Given the description of an element on the screen output the (x, y) to click on. 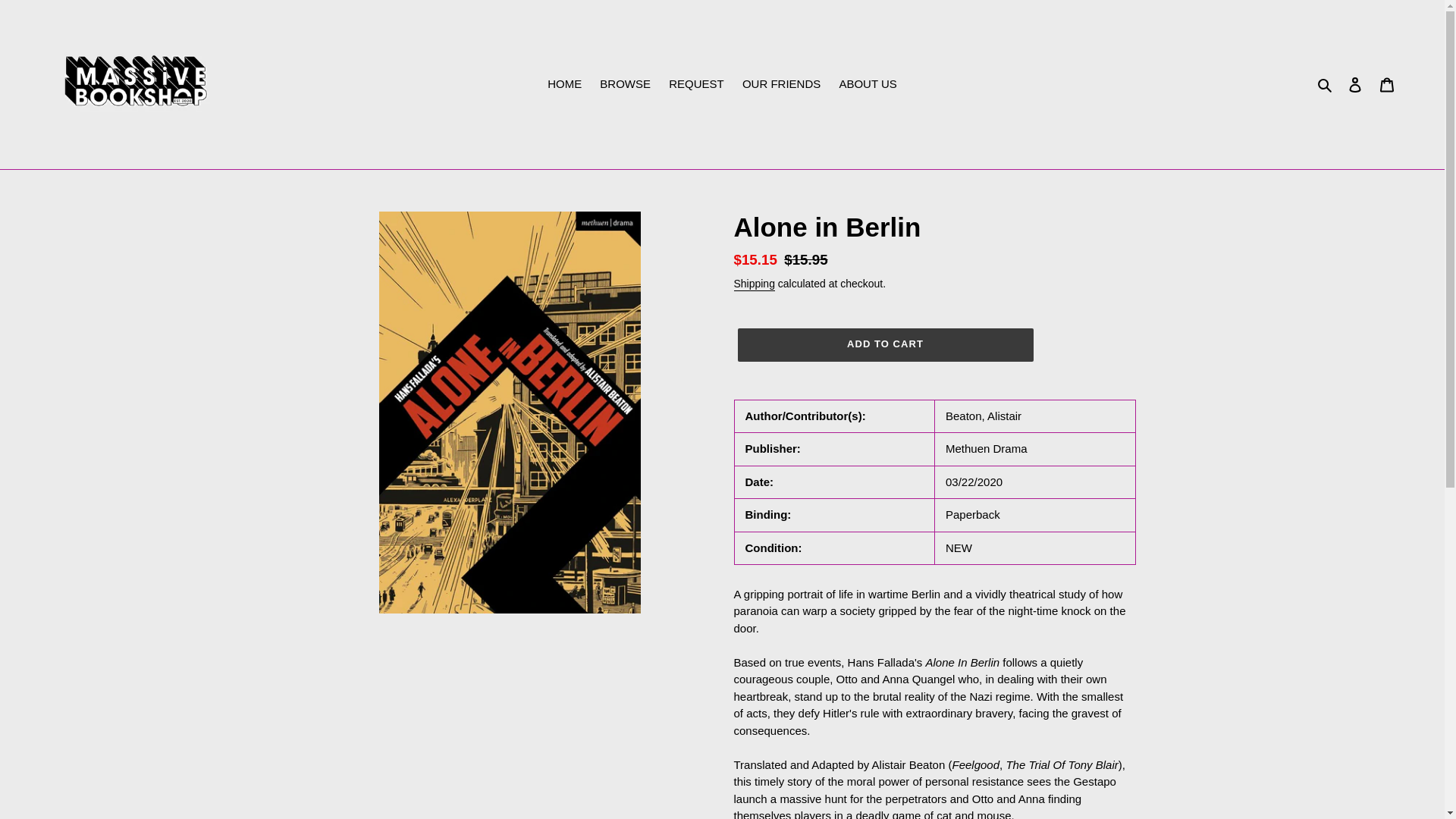
Cart (1387, 83)
Shipping (753, 284)
Log in (1355, 83)
OUR FRIENDS (781, 84)
ABOUT US (867, 84)
REQUEST (696, 84)
BROWSE (625, 84)
ADD TO CART (884, 344)
Search (1326, 84)
HOME (564, 84)
